Given the description of an element on the screen output the (x, y) to click on. 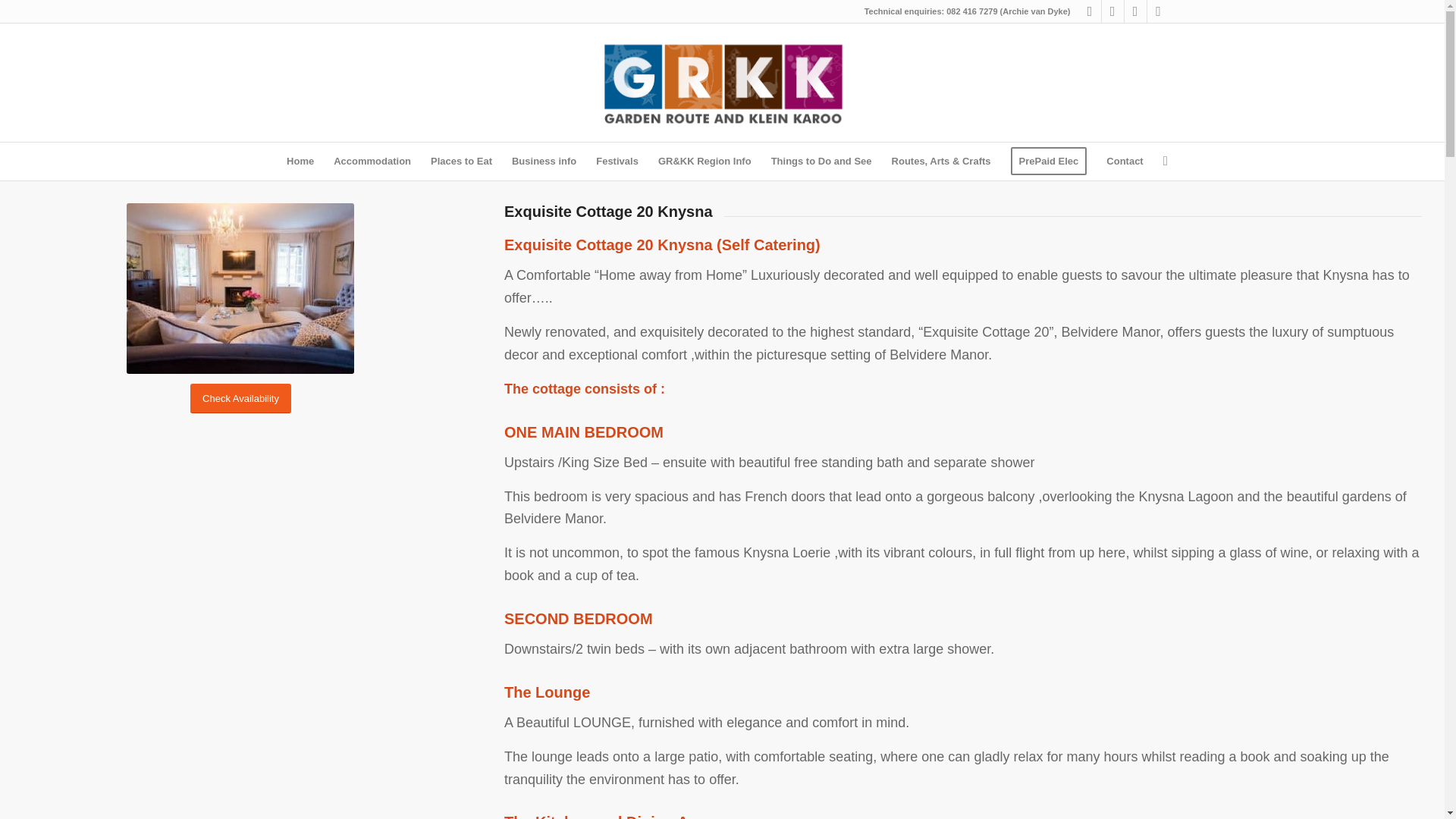
Accommodation (371, 161)
Home (299, 161)
Youtube (1134, 11)
Facebook (1089, 11)
Instagram (1158, 11)
Twitter (1111, 11)
